Given the description of an element on the screen output the (x, y) to click on. 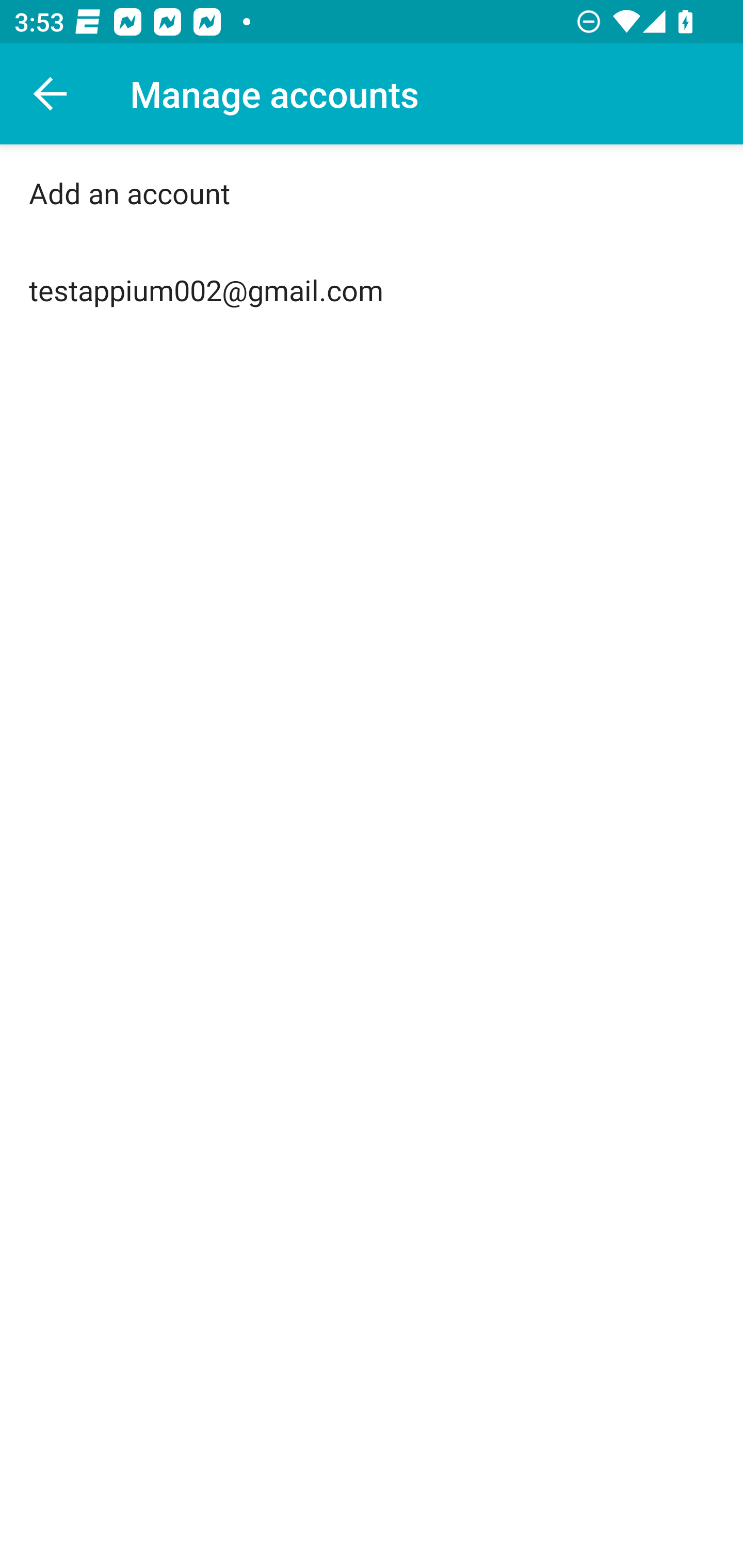
Navigate up (50, 93)
Add an account (371, 192)
testappium002@gmail.com (371, 289)
